Given the description of an element on the screen output the (x, y) to click on. 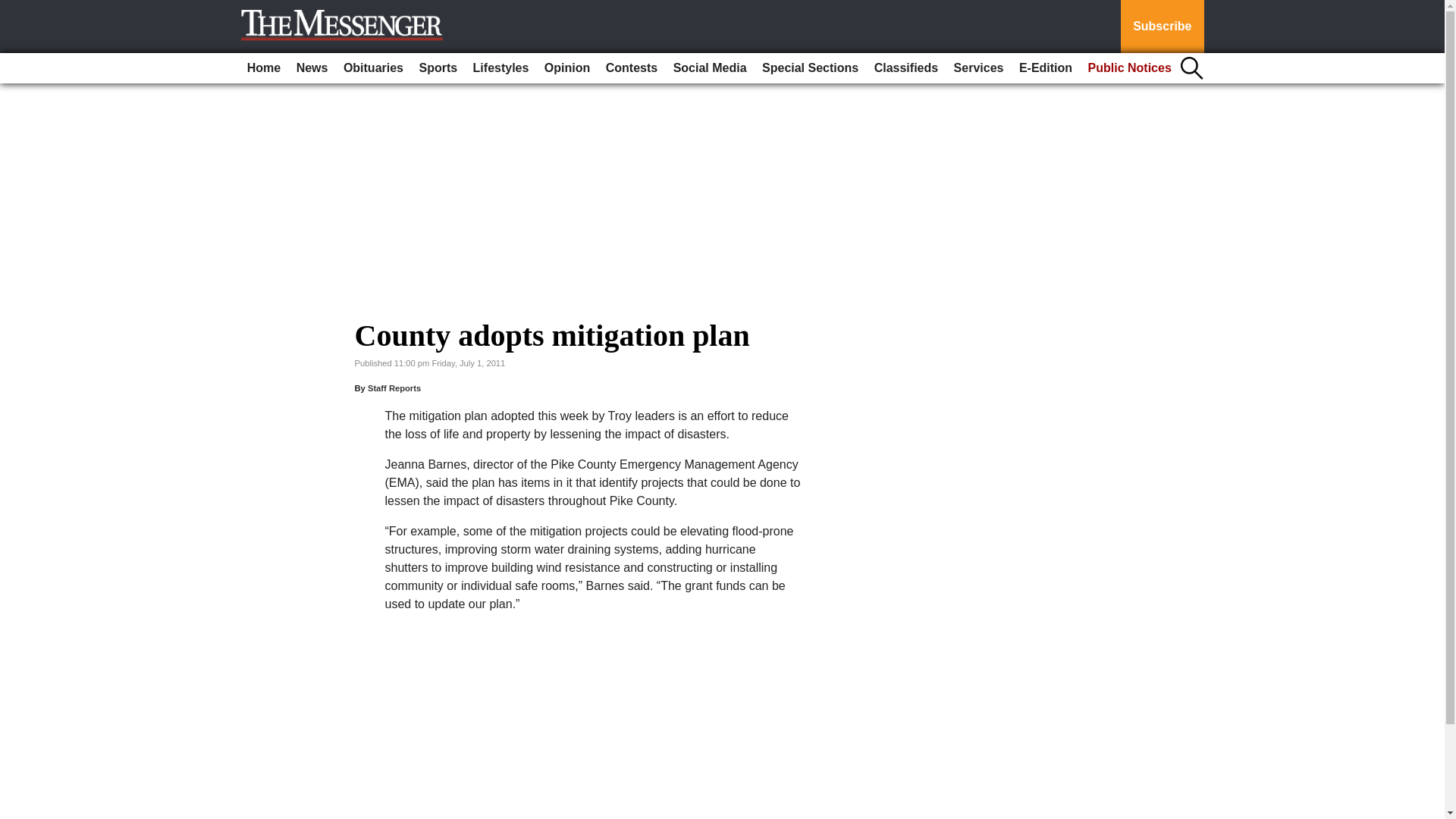
Home (263, 68)
Public Notices (1129, 68)
Classifieds (905, 68)
Opinion (566, 68)
Services (978, 68)
Social Media (709, 68)
E-Edition (1045, 68)
News (311, 68)
Subscribe (1162, 26)
Special Sections (809, 68)
Sports (437, 68)
Obituaries (373, 68)
Contests (631, 68)
Lifestyles (501, 68)
